Given the description of an element on the screen output the (x, y) to click on. 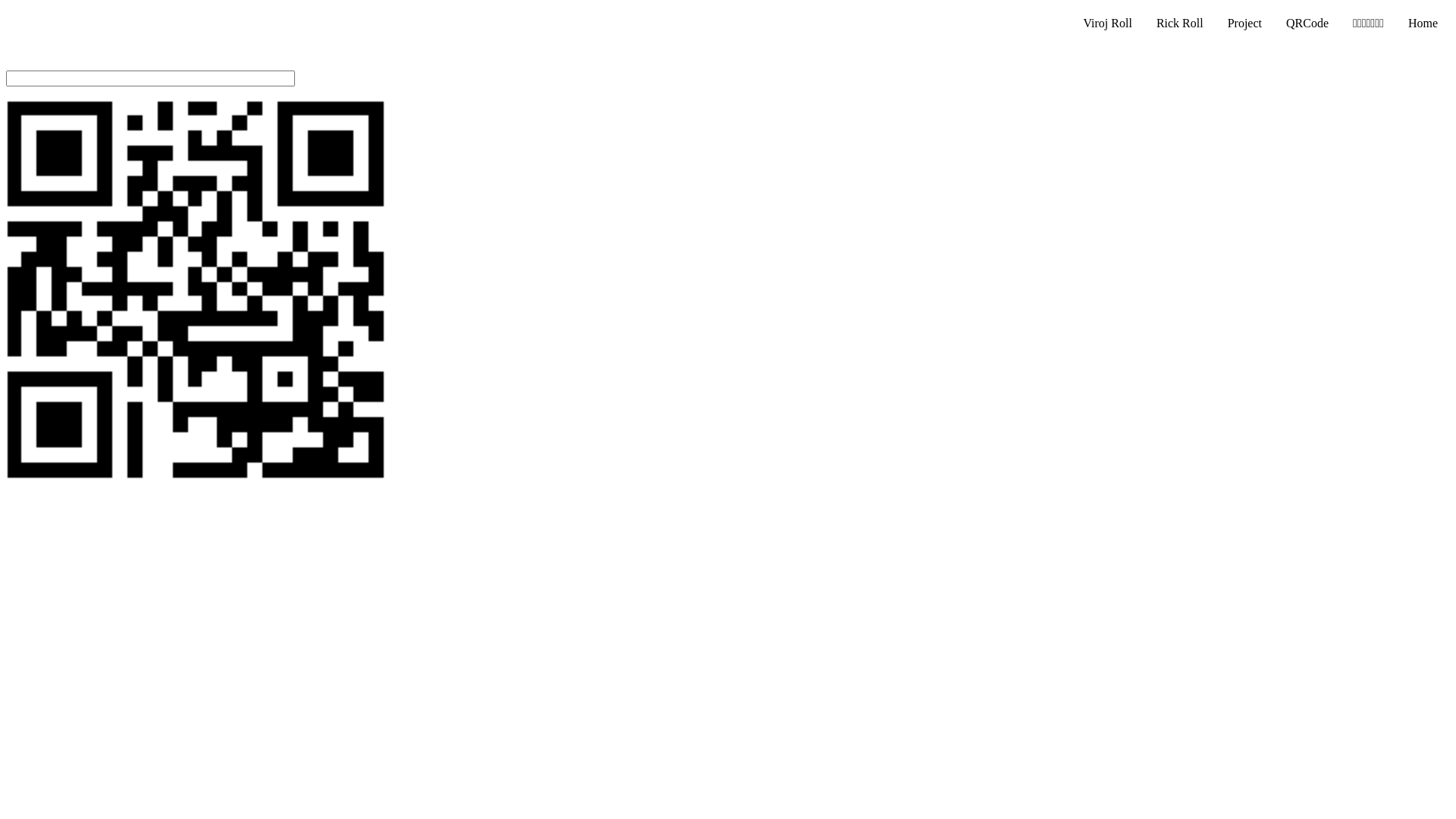
QRCode Element type: text (1307, 23)
Home Element type: text (1422, 23)
Viroj Roll Element type: text (1106, 23)
HELLO Element type: hover (195, 289)
Project Element type: text (1244, 23)
Rick Roll Element type: text (1179, 23)
